Given the description of an element on the screen output the (x, y) to click on. 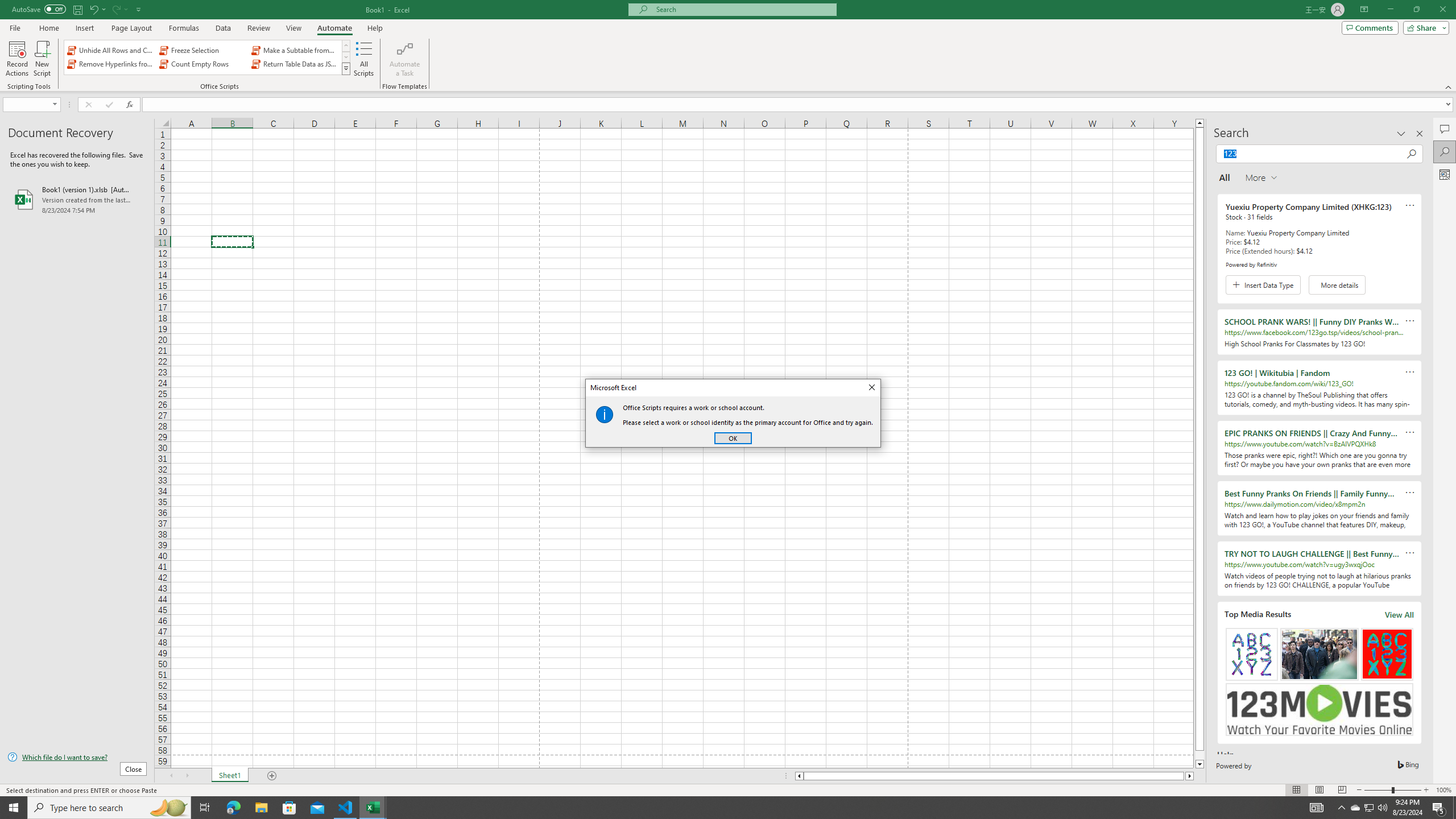
AutomationID: 4105 (1316, 807)
Excel - 2 running windows (373, 807)
Task View (204, 807)
AutomationID: OfficeScriptsGallery (1368, 807)
Microsoft Edge (207, 57)
